Given the description of an element on the screen output the (x, y) to click on. 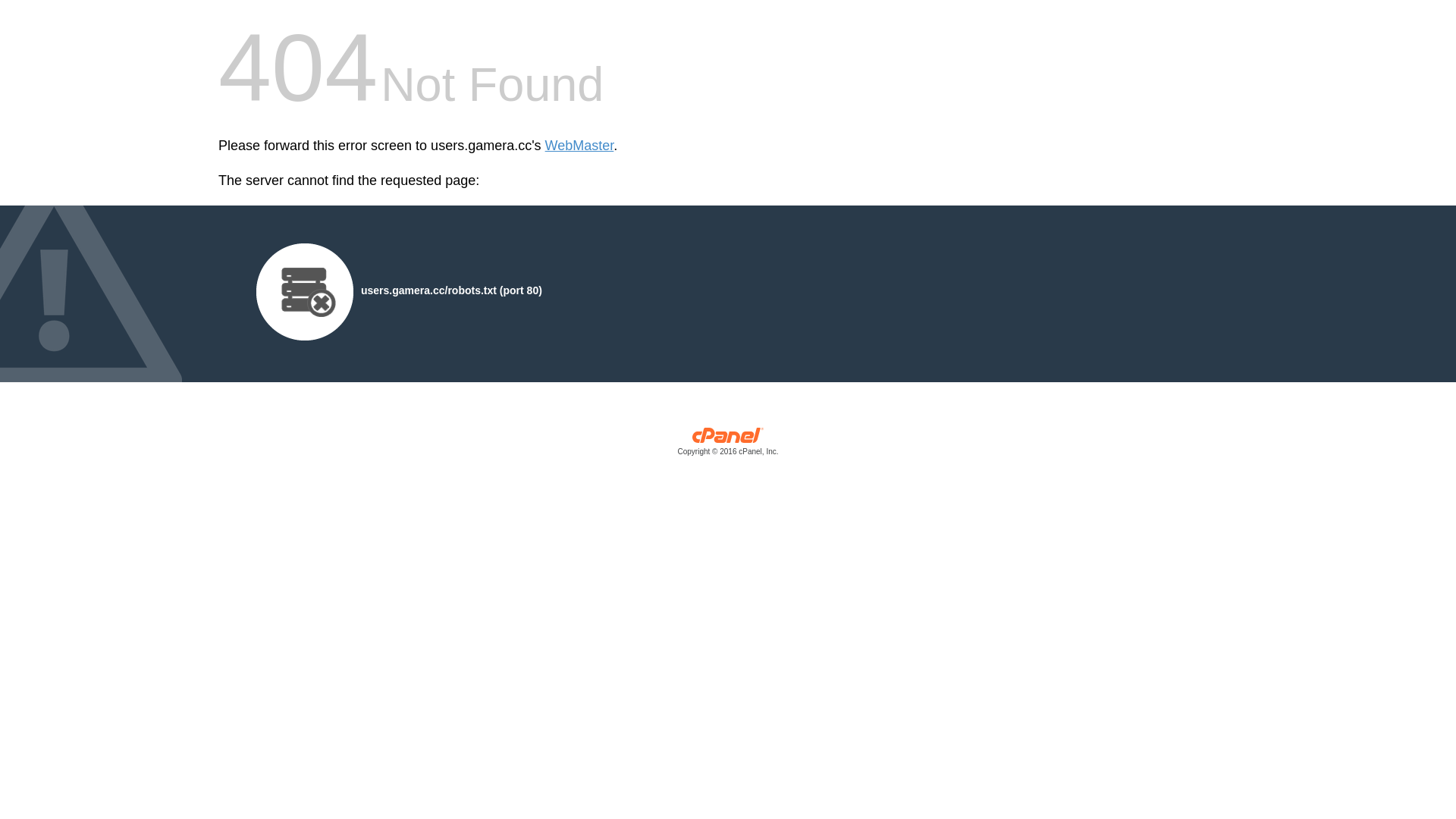
WebMaster Element type: text (579, 145)
